Given the description of an element on the screen output the (x, y) to click on. 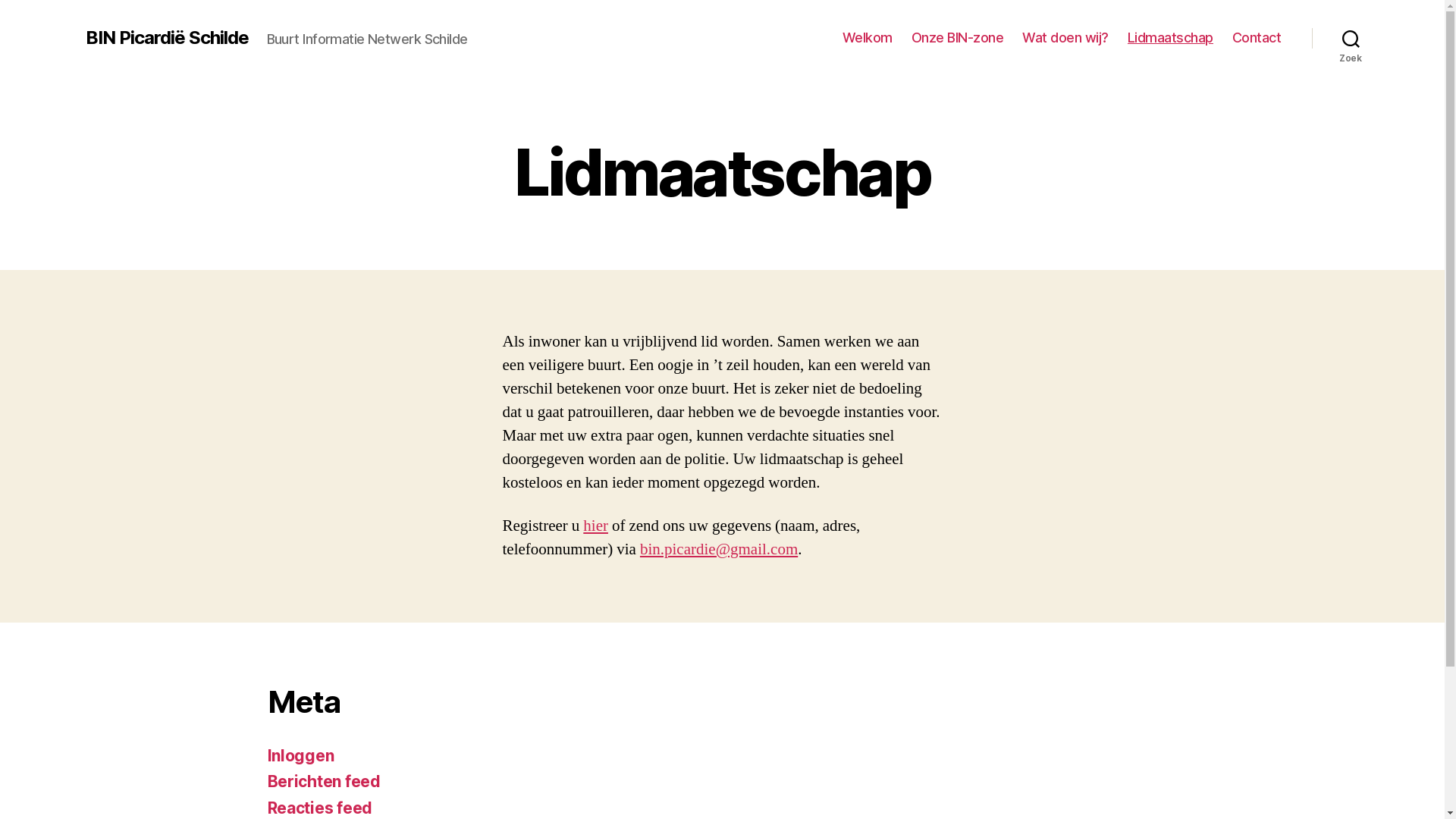
bin.picardie@gmail.com Element type: text (718, 549)
Reacties feed Element type: text (319, 807)
hier Element type: text (595, 525)
Contact Element type: text (1256, 37)
Berichten feed Element type: text (322, 780)
Onze BIN-zone Element type: text (957, 37)
Inloggen Element type: text (299, 755)
Zoek Element type: text (1350, 37)
Wat doen wij? Element type: text (1065, 37)
Welkom Element type: text (867, 37)
Lidmaatschap Element type: text (1170, 37)
